Given the description of an element on the screen output the (x, y) to click on. 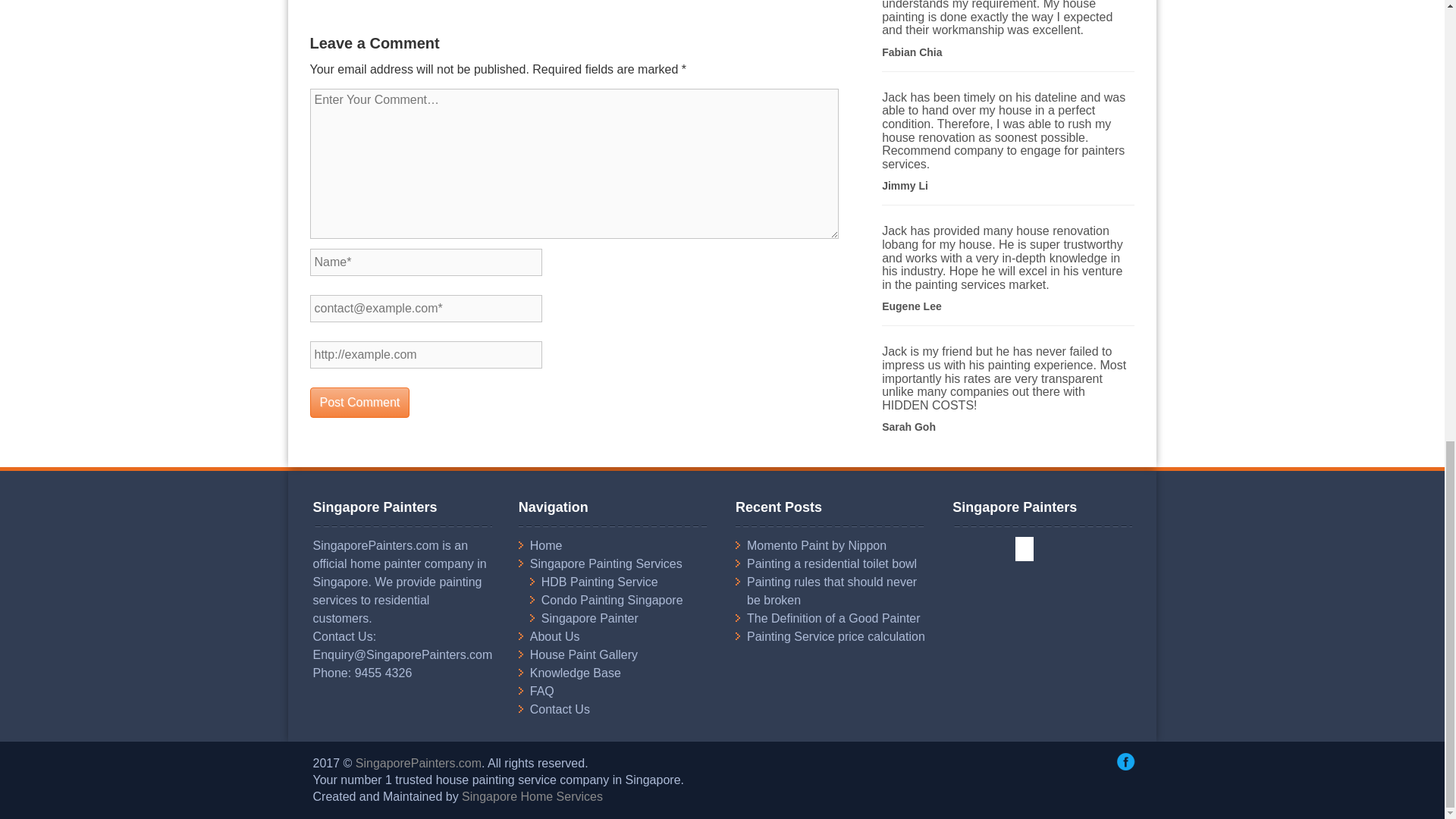
Post Comment (358, 402)
